Given the description of an element on the screen output the (x, y) to click on. 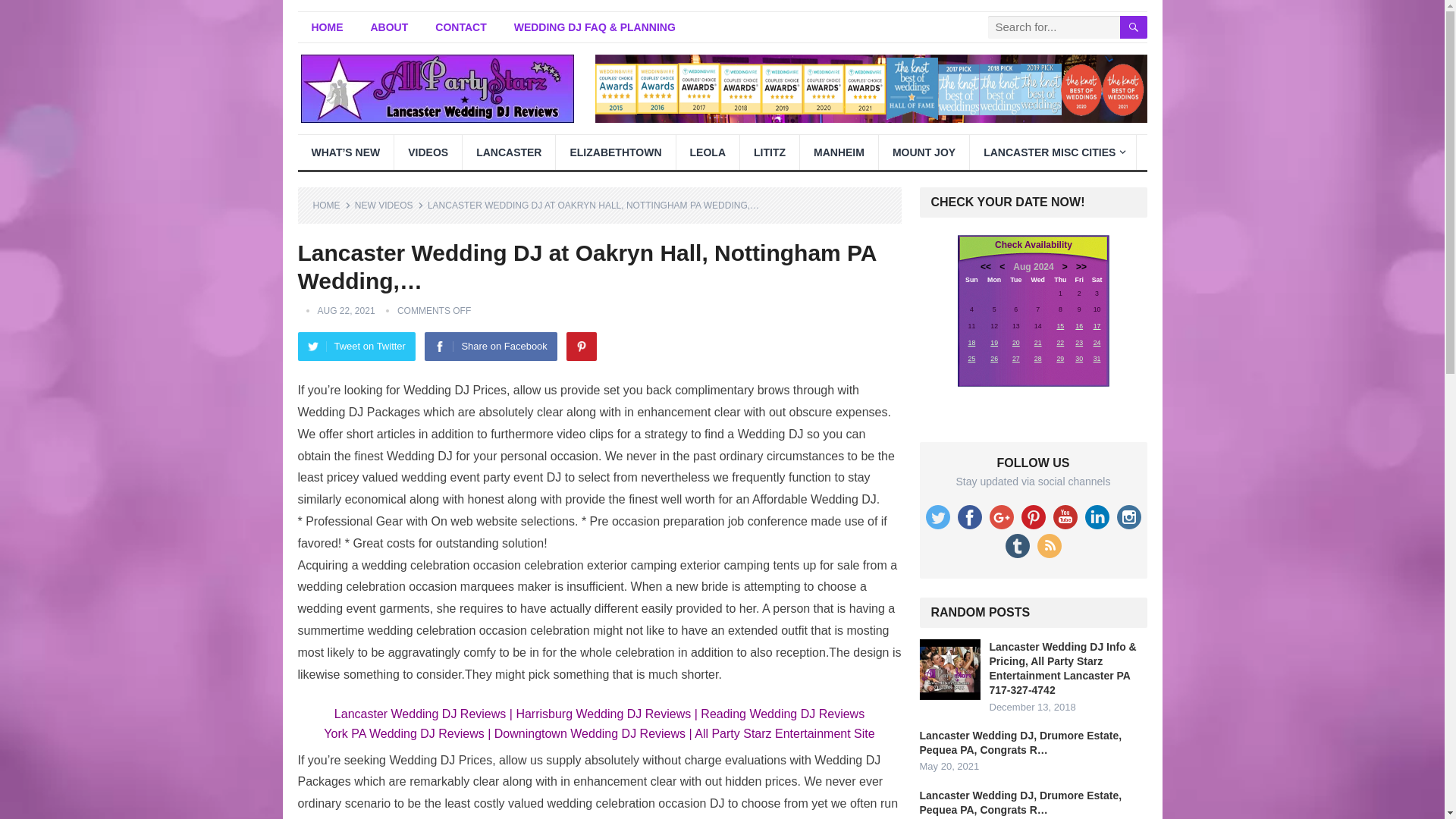
HOME (326, 27)
LANCASTER (508, 152)
CONTACT (460, 27)
MANHEIM (838, 152)
ABOUT (389, 27)
Share on Facebook (490, 346)
VIDEOS (427, 152)
ELIZABETHTOWN (615, 152)
NEW VIDEOS (389, 204)
MOUNT JOY (924, 152)
